Given the description of an element on the screen output the (x, y) to click on. 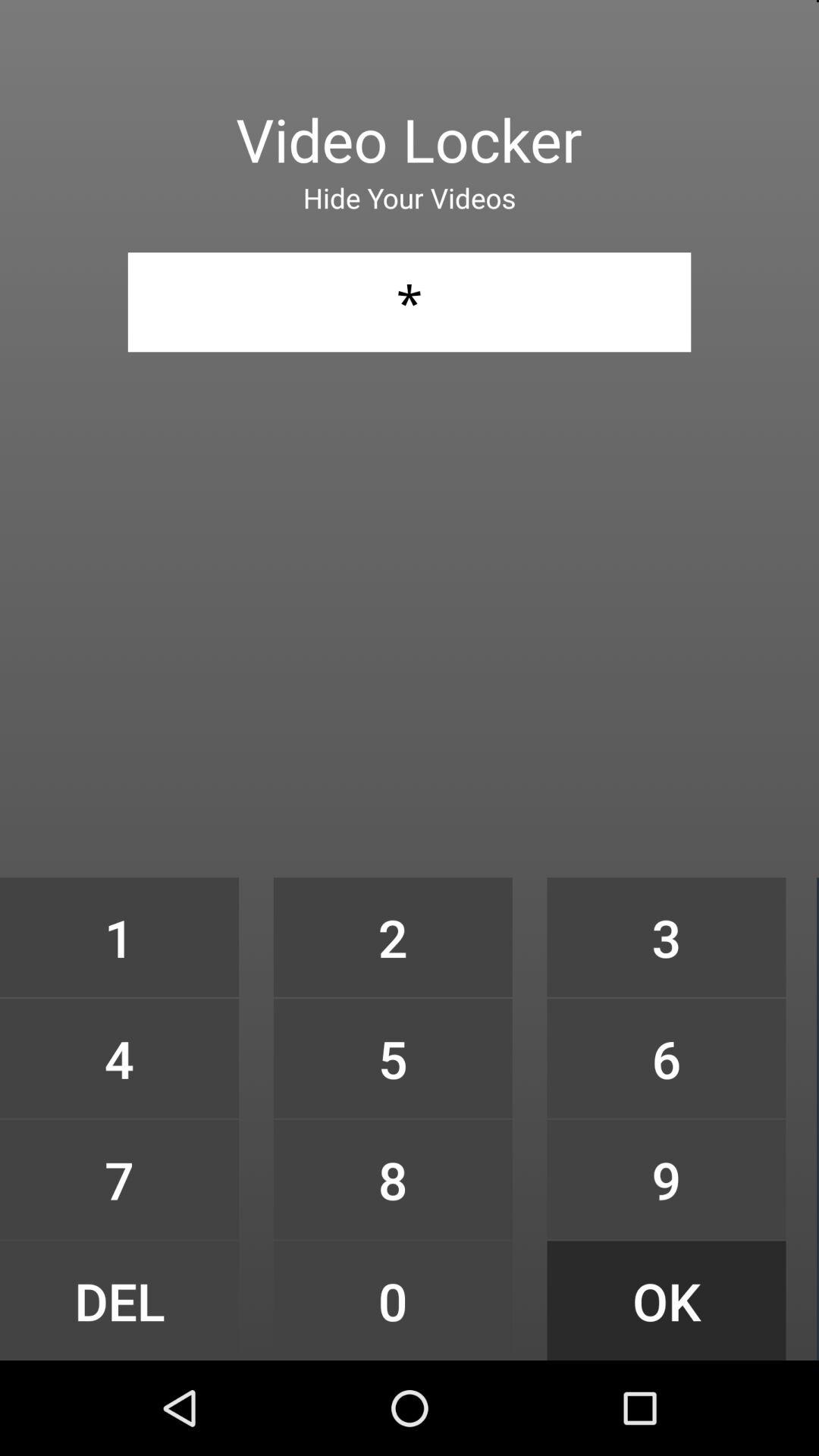
open the item below 2 item (392, 1058)
